Given the description of an element on the screen output the (x, y) to click on. 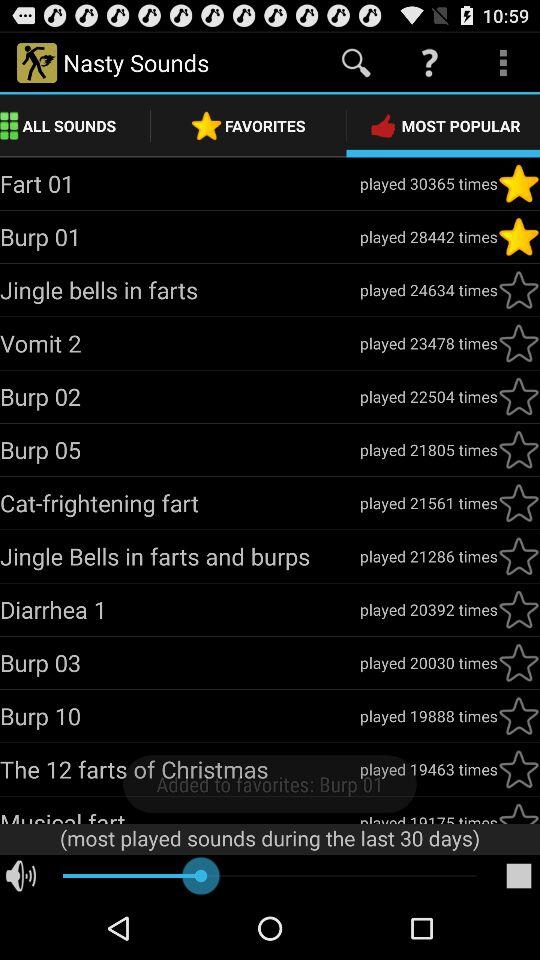
save as favorite (519, 237)
